Given the description of an element on the screen output the (x, y) to click on. 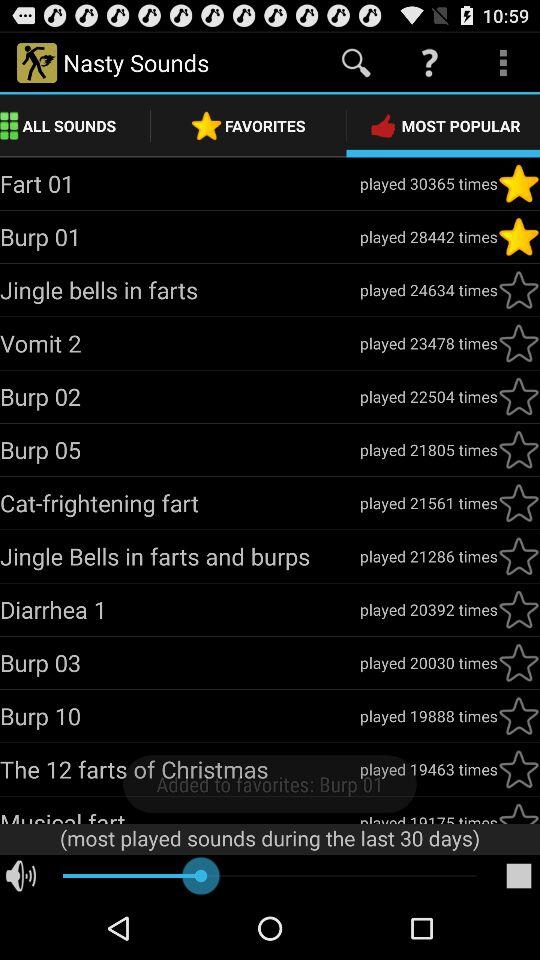
save as favorite (519, 237)
